Given the description of an element on the screen output the (x, y) to click on. 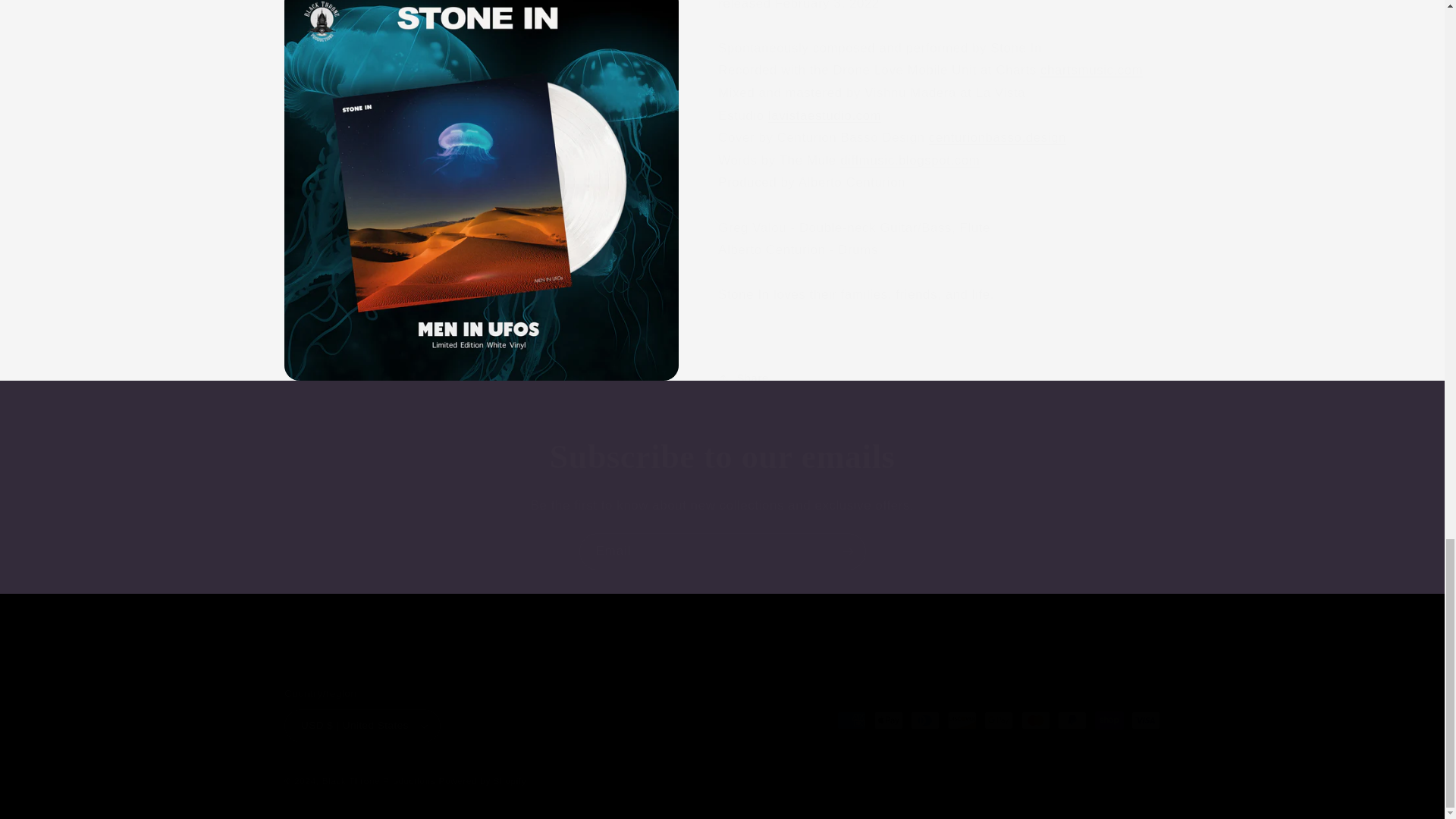
Subscribe to our emails (722, 457)
Email (722, 551)
